Given the description of an element on the screen output the (x, y) to click on. 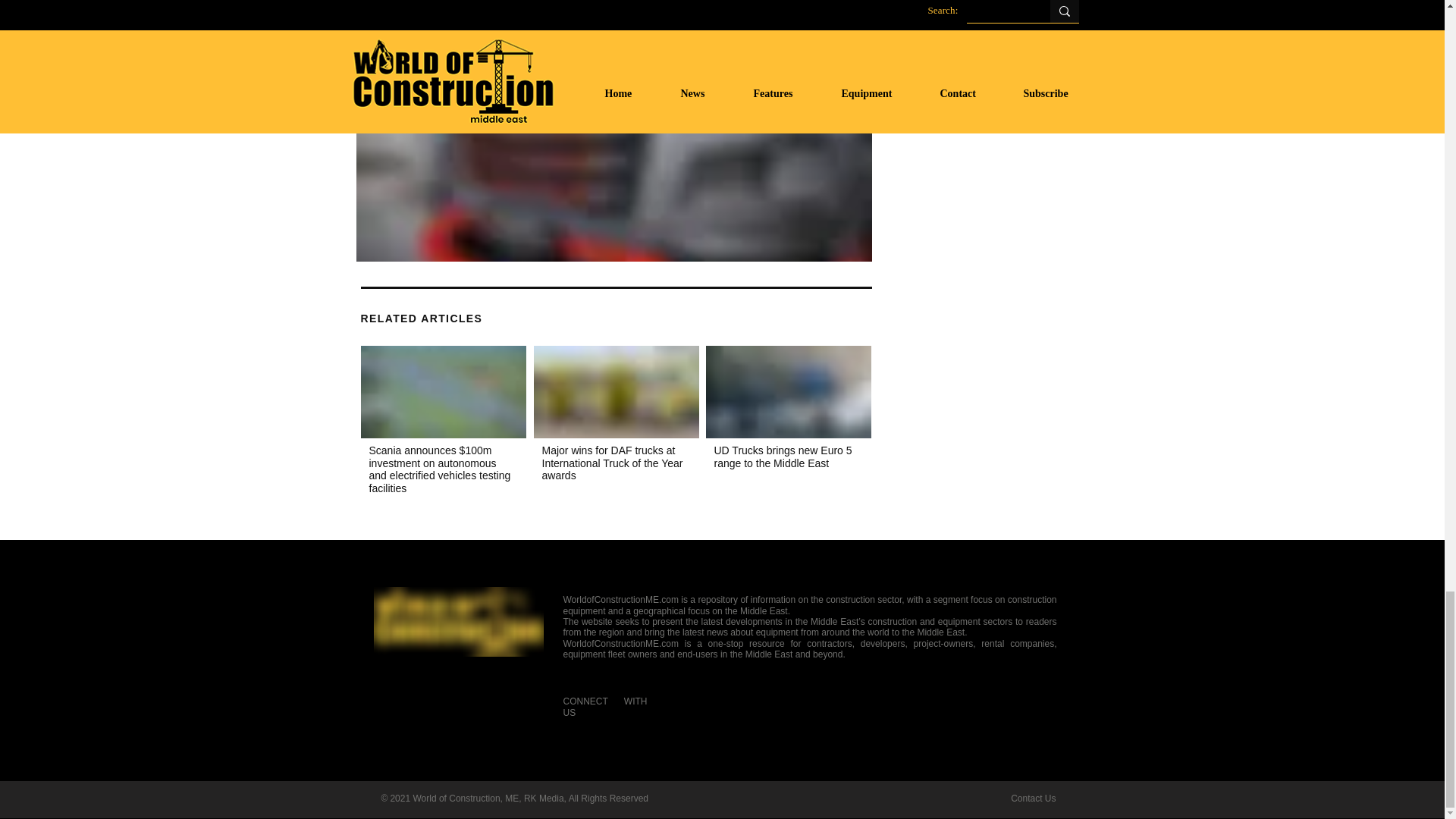
Scania (443, 391)
UD Trucks Euro 5 Pic 1 (787, 391)
Contact Us (1032, 798)
DAF Trucks (616, 391)
